Given the description of an element on the screen output the (x, y) to click on. 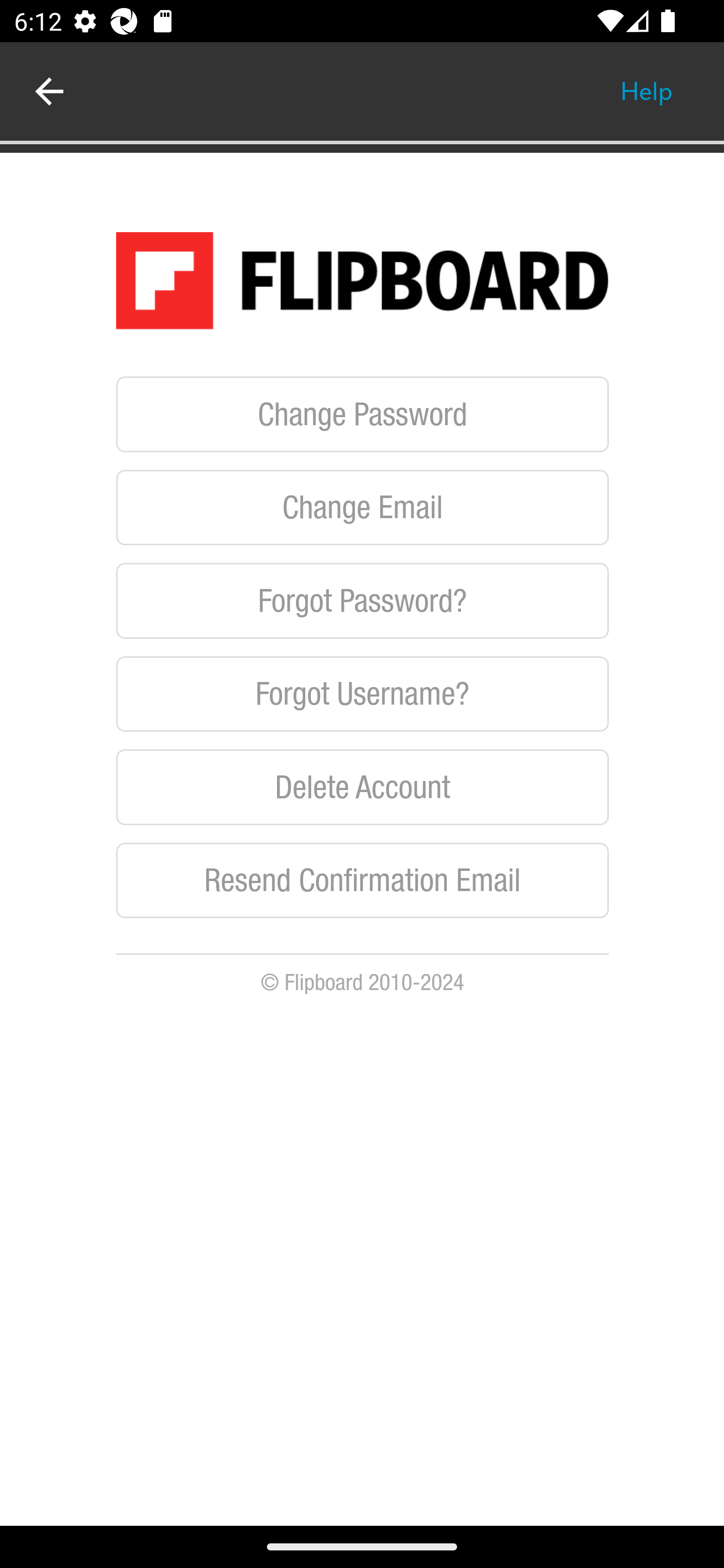
Back (49, 91)
Help (646, 91)
Change Password (362, 414)
Change Email (362, 507)
Forgot Password? (362, 600)
Forgot Username? (362, 692)
Delete Account (362, 787)
Resend Confirmation Email (362, 880)
